Given the description of an element on the screen output the (x, y) to click on. 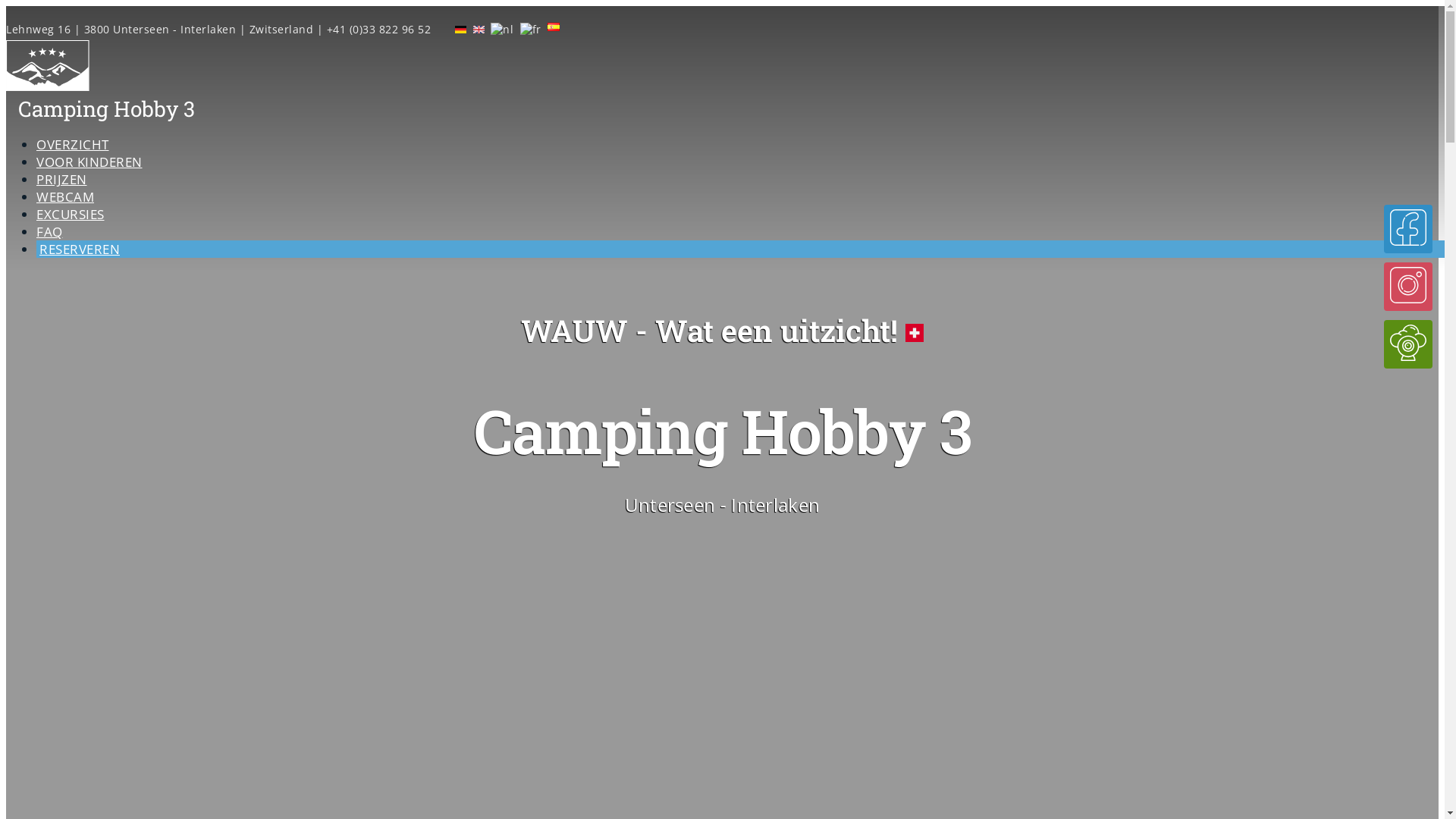
Deutsch Element type: hover (460, 28)
+41 (0)33 822 96 52 Element type: text (378, 28)
Volg ons op Instagram Element type: hover (437, 28)
PRIJZEN Element type: text (61, 179)
Geef on een Like op Facebook! Element type: hover (1408, 229)
VOOR KINDEREN Element type: text (89, 161)
WEBCAM Element type: text (65, 196)
English Element type: hover (478, 28)
Live webcam Element type: hover (1408, 344)
FAQ Element type: text (49, 231)
Volg ons op Instagram! Element type: hover (1408, 286)
Live webcam Element type: hover (431, 28)
OVERZICHT Element type: text (72, 144)
EXCURSIES Element type: text (70, 213)
Nederlands Element type: hover (501, 28)
Camping Hobby 3 Element type: text (106, 108)
RESERVEREN Element type: text (79, 248)
Geef ons een Like op Facebook. Element type: hover (434, 28)
